Given the description of an element on the screen output the (x, y) to click on. 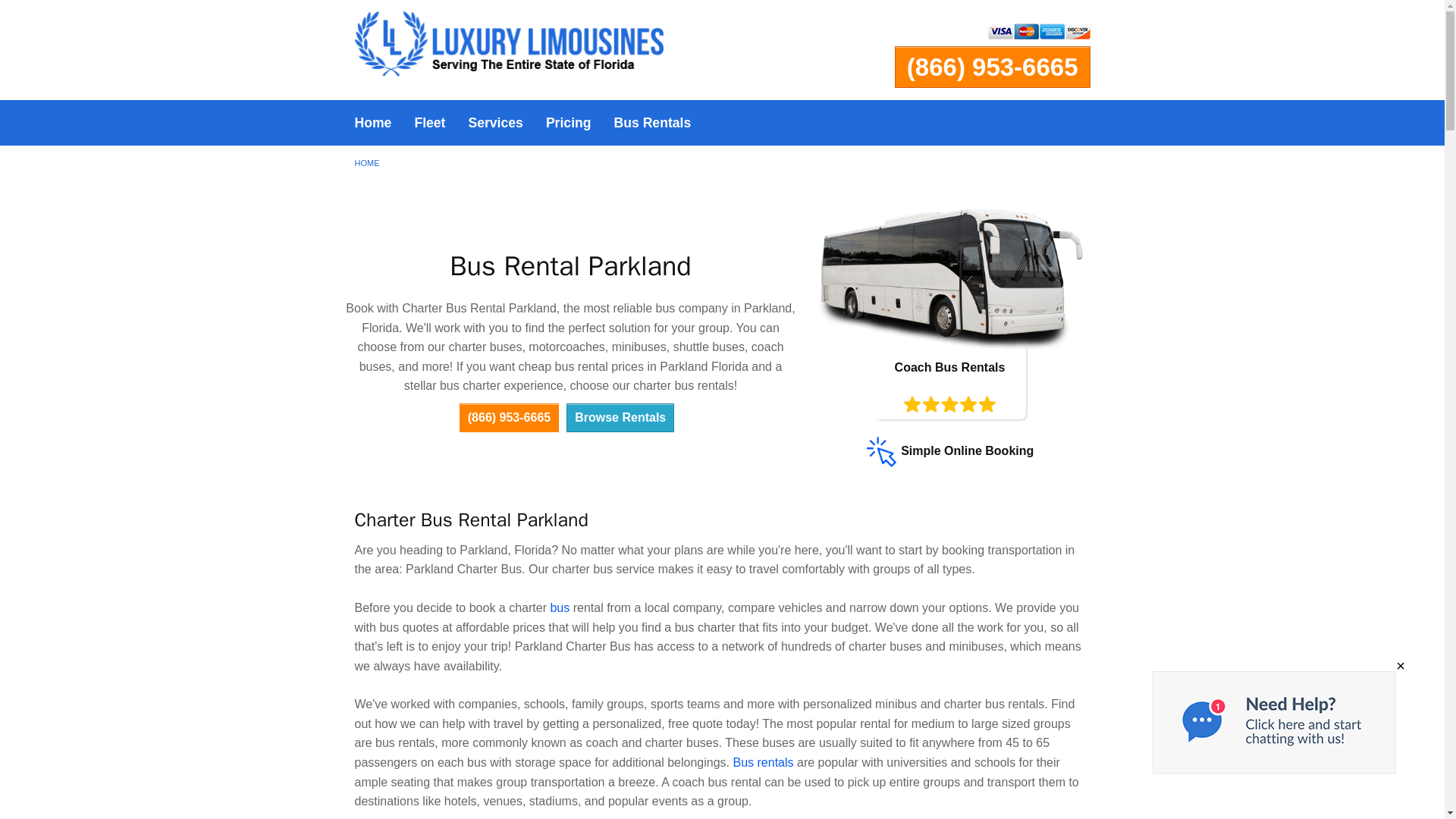
Pricing (568, 122)
bus (559, 607)
Browse Rentals (620, 417)
Fleet (430, 122)
Bus Rentals (652, 122)
Home (372, 122)
HOME (367, 162)
Services (495, 122)
Bus rentals (762, 762)
